Given the description of an element on the screen output the (x, y) to click on. 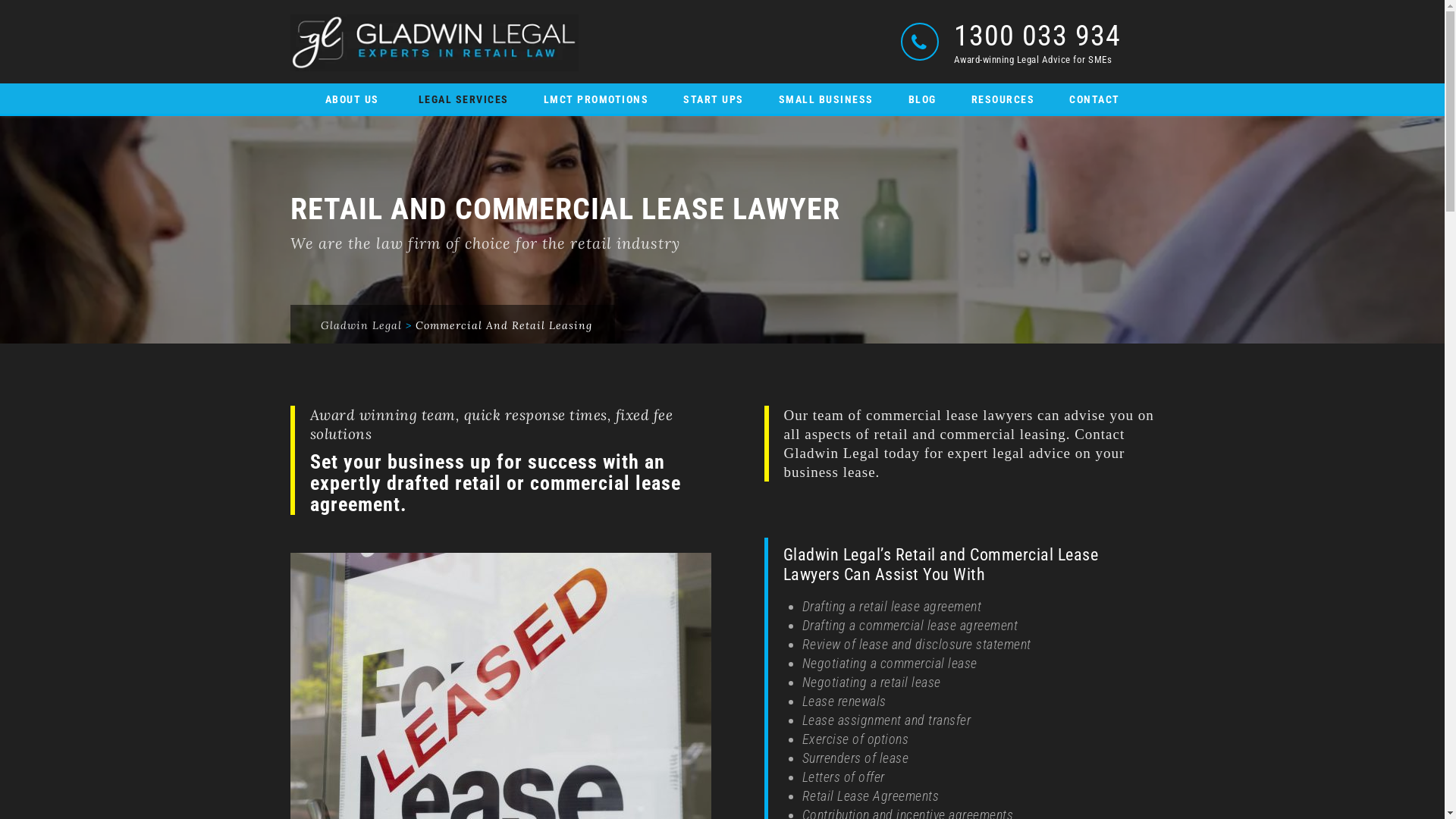
LMCT PROMOTIONS Element type: text (595, 94)
ABOUT US Element type: text (353, 94)
START UPS Element type: text (713, 94)
LEGAL SERVICES Element type: text (463, 94)
RESOURCES Element type: text (1002, 94)
1300 033 934 Element type: text (1036, 34)
Skip to content Element type: text (289, 82)
BLOG Element type: text (922, 94)
Gladwin Legal Element type: text (360, 325)
CONTACT Element type: text (1094, 94)
SMALL BUSINESS Element type: text (825, 94)
Gladwin Legal Element type: hover (433, 42)
